Given the description of an element on the screen output the (x, y) to click on. 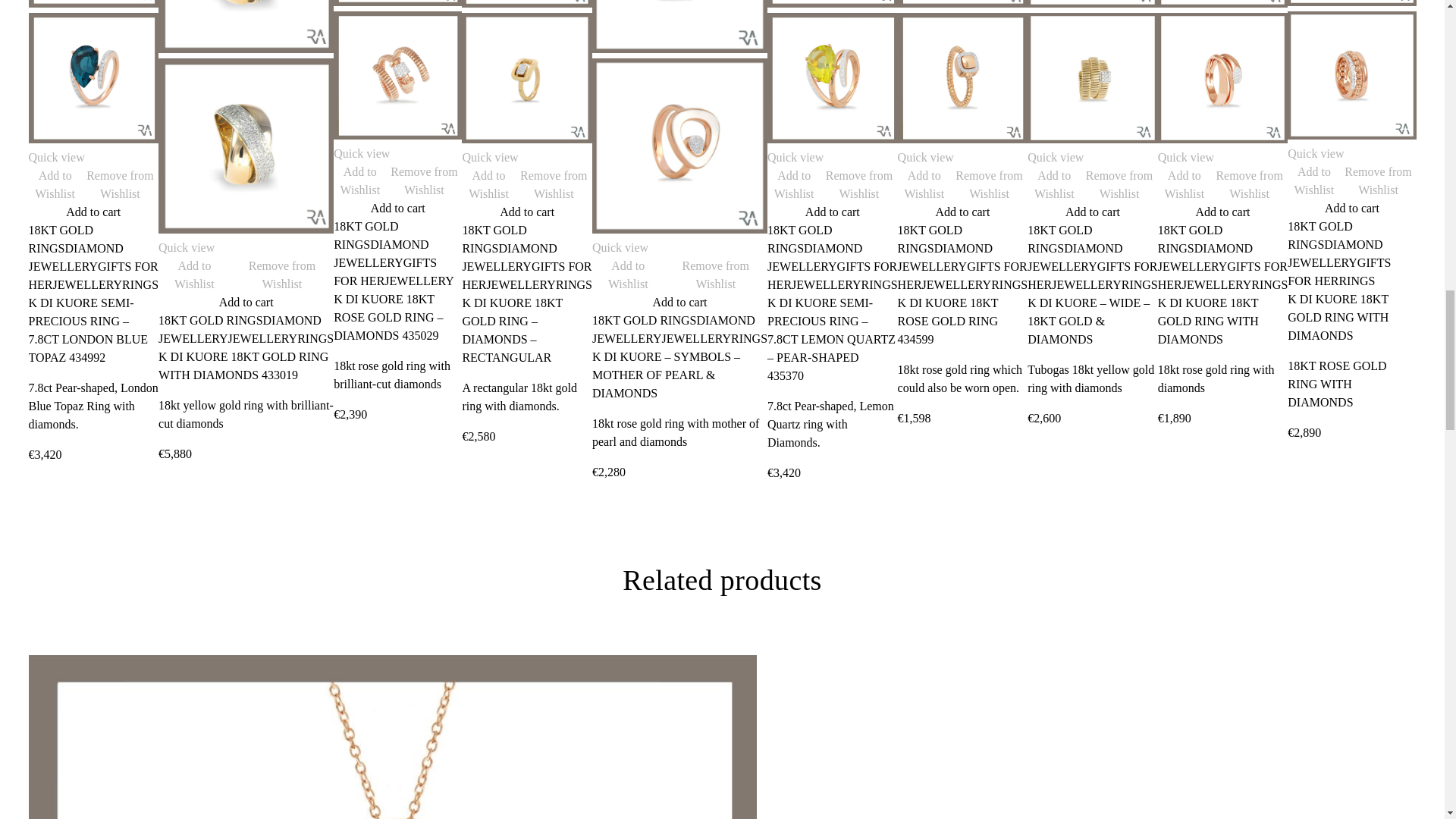
View all posts in DIAMOND JEWELLERY (239, 328)
View all posts in 18KT GOLD RINGS (61, 238)
View all posts in GIFTS FOR HER (384, 271)
View all posts in DIAMOND JEWELLERY (76, 256)
View all posts in RINGS (315, 338)
View all posts in GIFTS FOR HER (93, 275)
View all posts in RINGS (140, 284)
View all posts in JEWELLERY (263, 338)
View all posts in 18KT GOLD RINGS (210, 319)
View all posts in 18KT GOLD RINGS (365, 235)
View all posts in JEWELLERY (87, 284)
View all posts in DIAMOND JEWELLERY (380, 253)
